Given the description of an element on the screen output the (x, y) to click on. 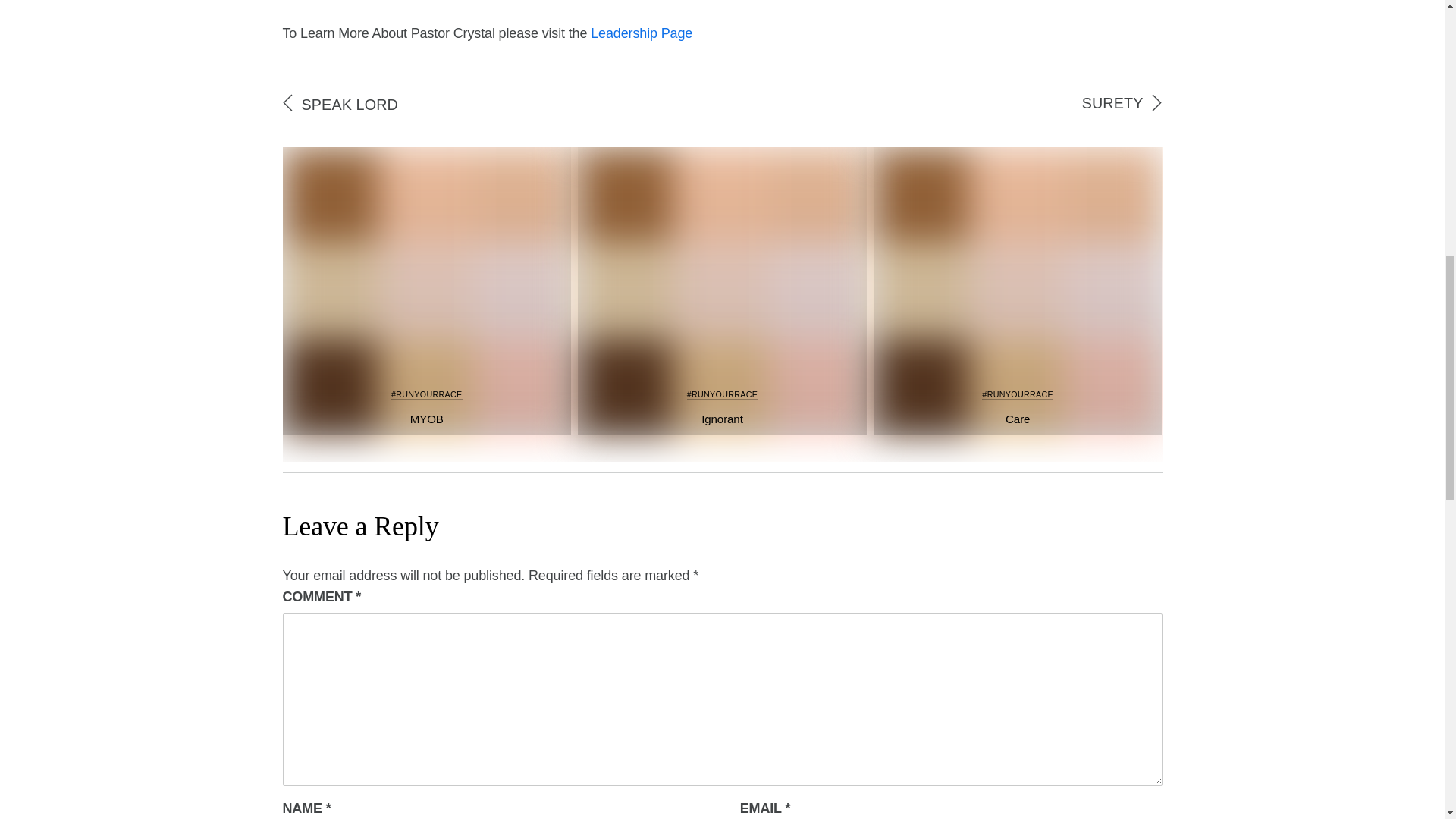
RUN-YOUR-RACE-NEW (1017, 290)
SPEAK LORD (349, 104)
RUN-YOUR-RACE-NEW (722, 290)
MYOB (427, 418)
RUN-YOUR-RACE-NEW (426, 290)
Leadership Page (642, 32)
MYOB (427, 418)
Care (1017, 418)
Ignorant (721, 418)
SURETY (1111, 103)
